Given the description of an element on the screen output the (x, y) to click on. 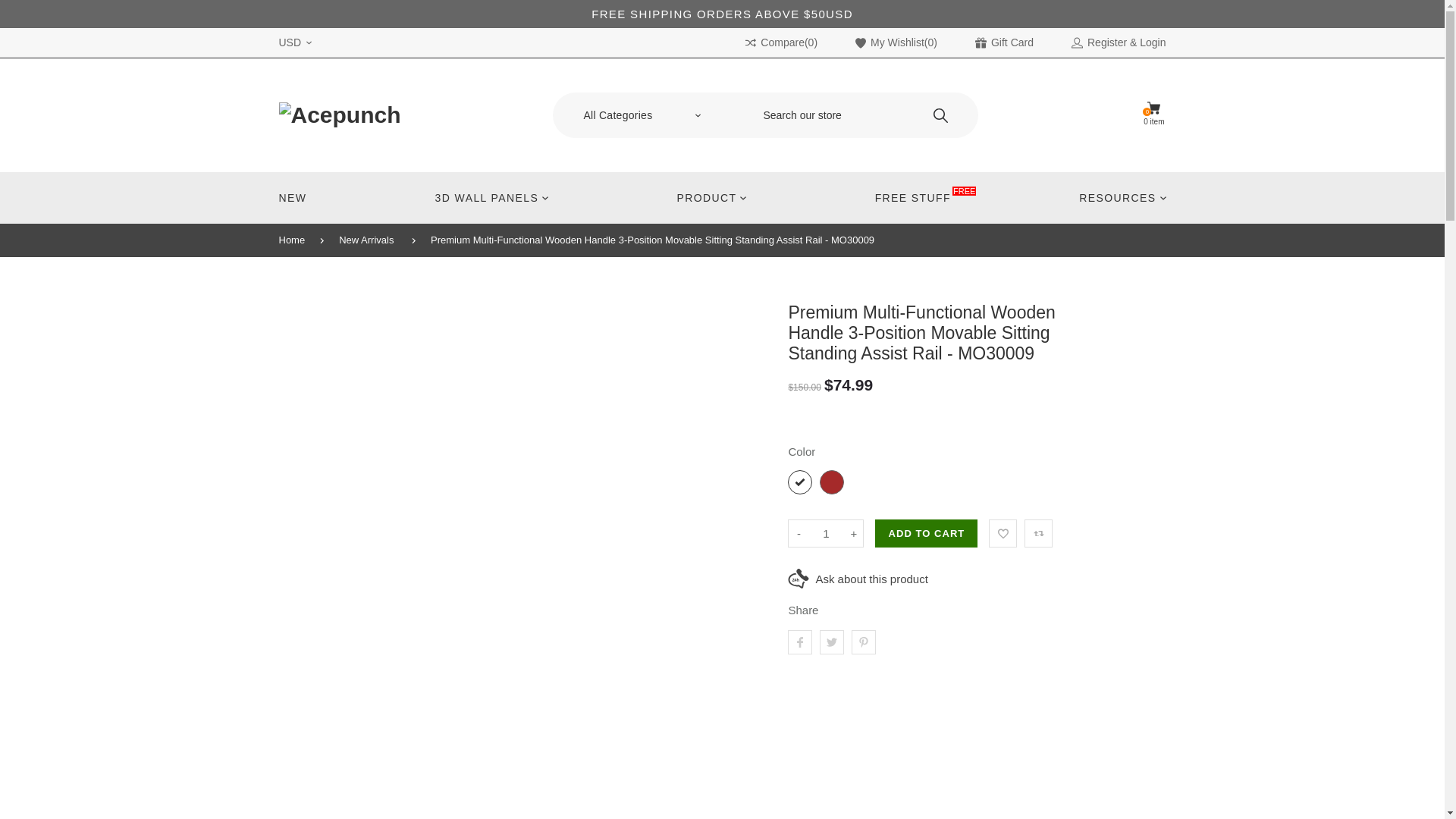
1 (825, 533)
Add to Compare (1038, 533)
Tweet on Twitter (831, 641)
3D WALL PANELS (492, 197)
Add to Wishlist (1002, 533)
Share on Facebook (799, 641)
Home (299, 240)
USD (1153, 115)
Pin on Pinterest (294, 42)
